Given the description of an element on the screen output the (x, y) to click on. 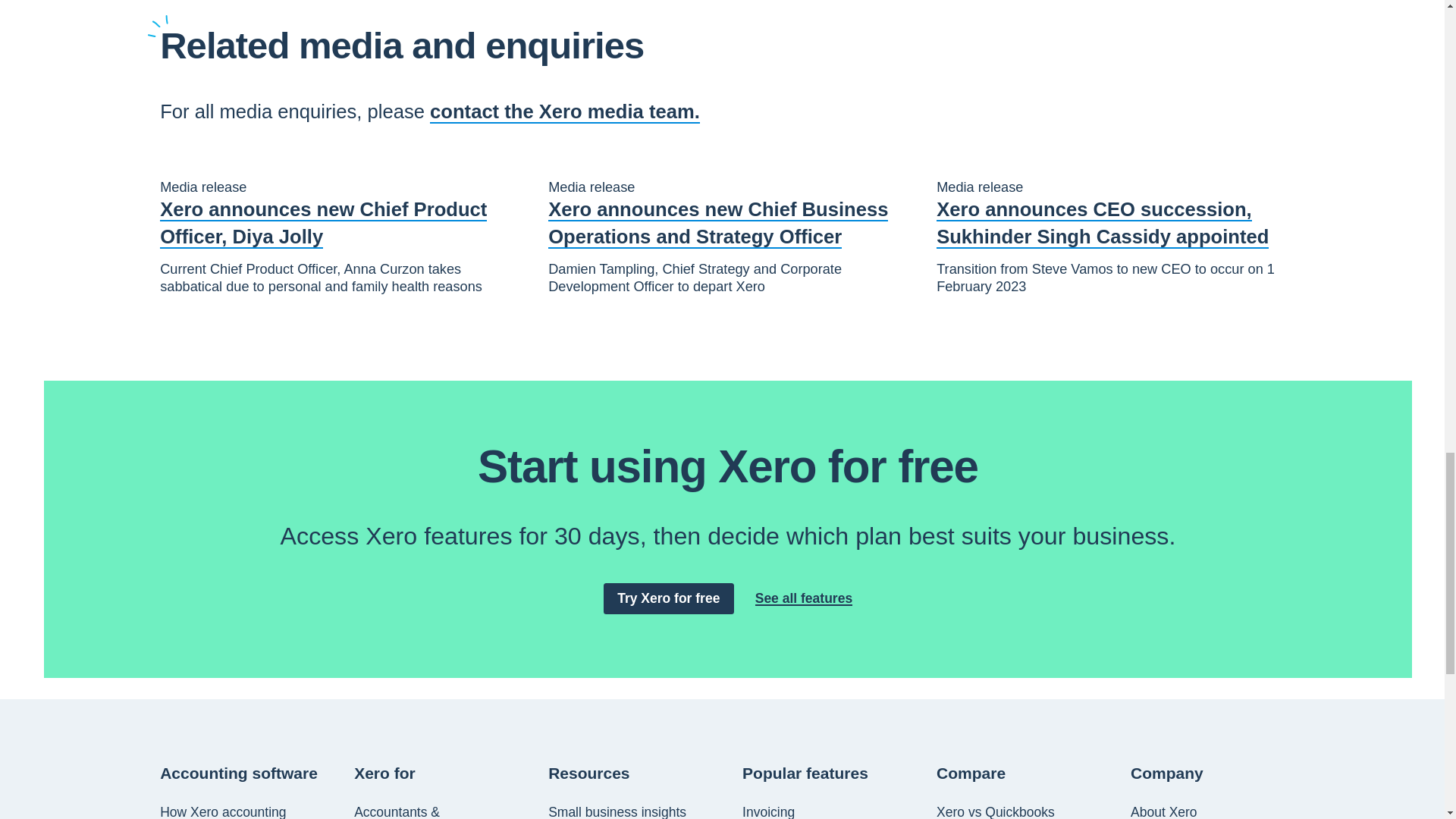
Try Xero for free (668, 598)
Xero announces new Chief Product Officer, Diya Jolly (339, 223)
contact the Xero media team. (564, 111)
How Xero accounting software works (242, 811)
See all features (803, 598)
Small business insights (616, 811)
